Given the description of an element on the screen output the (x, y) to click on. 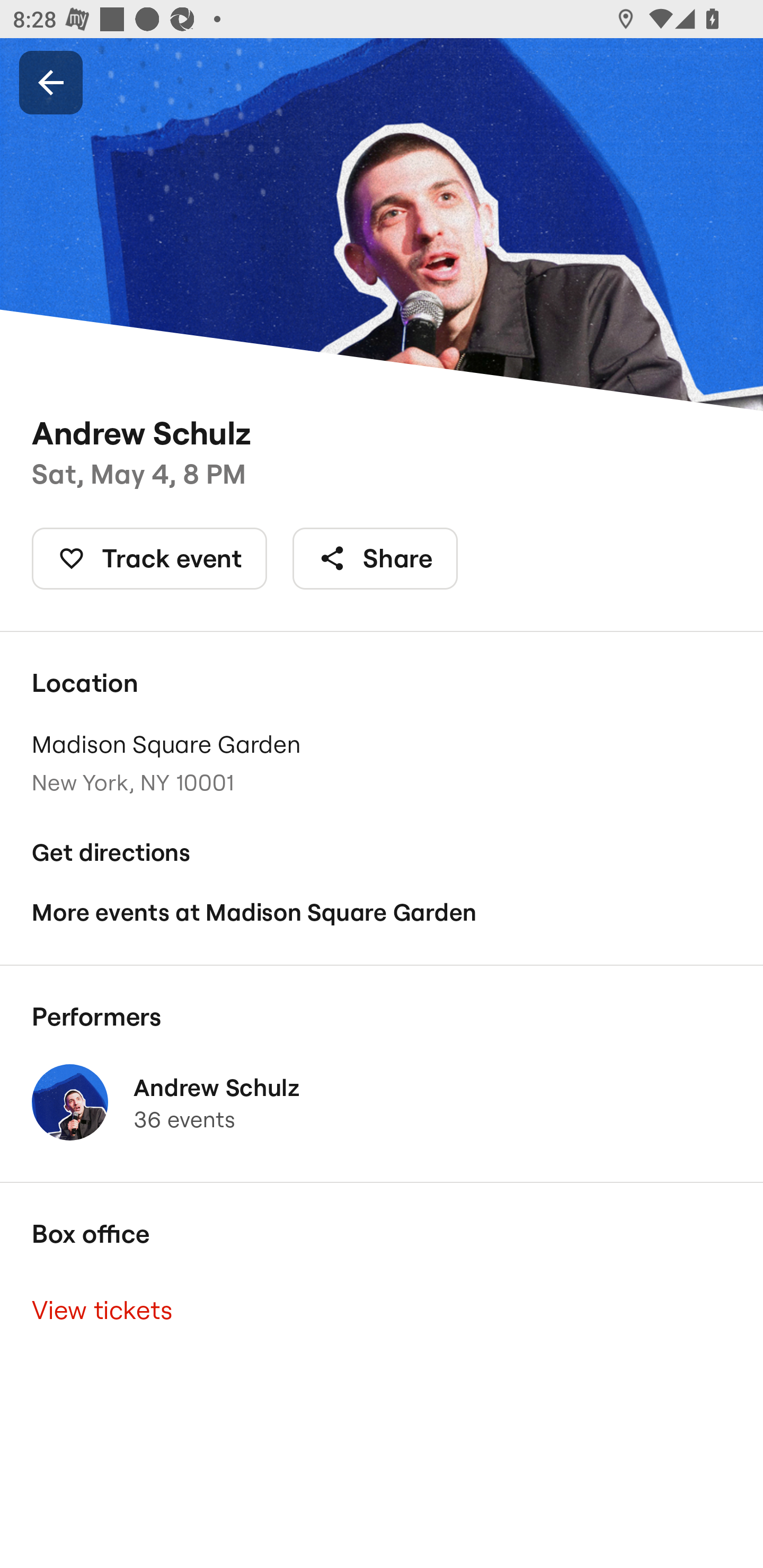
Back (50, 81)
Track event (149, 557)
Share (374, 557)
Get directions (381, 852)
More events at Madison Square Garden (381, 912)
Andrew Schulz 36 events (381, 1102)
View tickets (381, 1309)
